Given the description of an element on the screen output the (x, y) to click on. 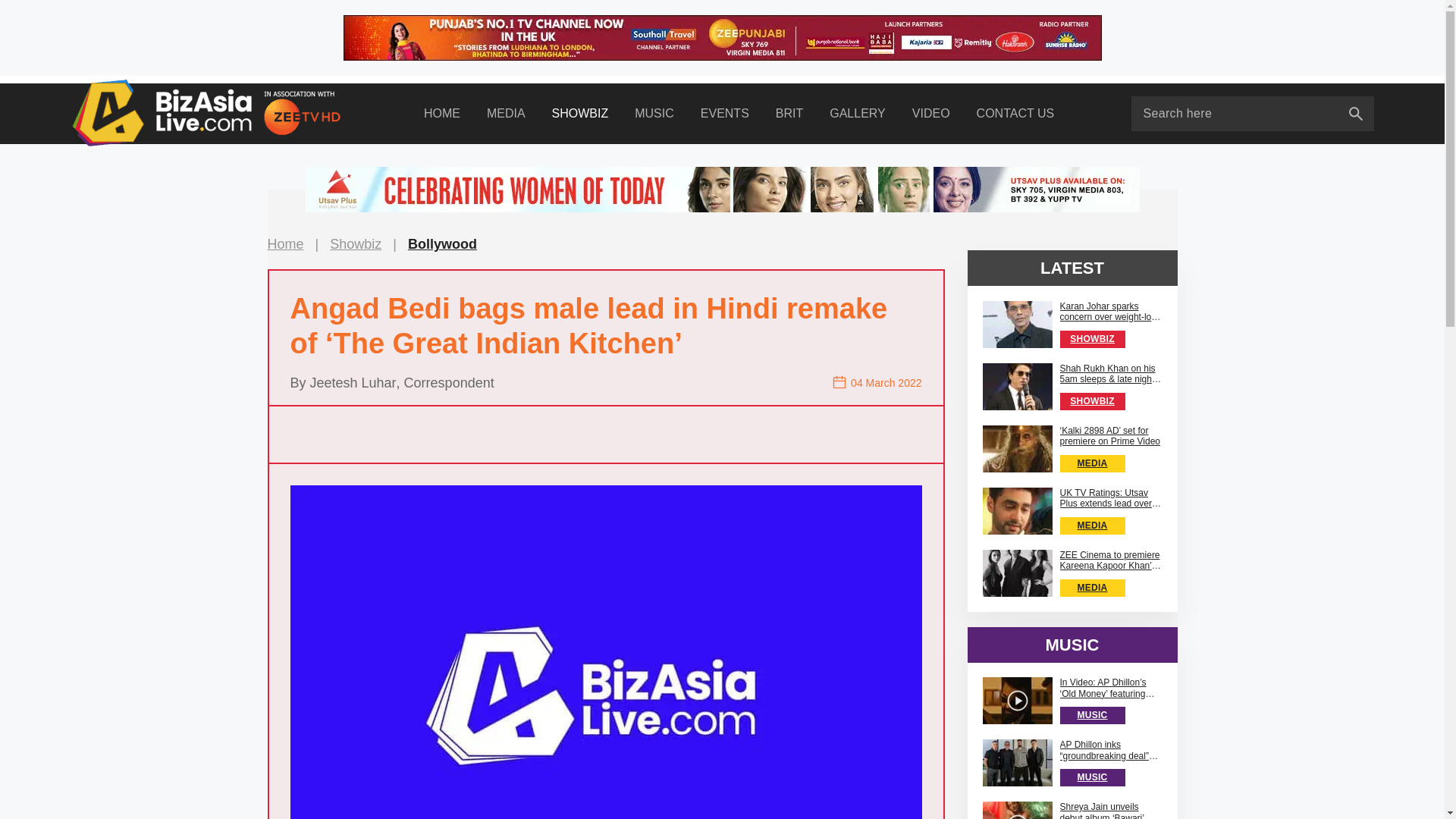
GALLERY (857, 113)
Top header Banner (721, 37)
HOME (441, 113)
MUSIC (654, 113)
EVENTS (724, 113)
SHOWBIZ (579, 113)
MEDIA (505, 113)
